Given the description of an element on the screen output the (x, y) to click on. 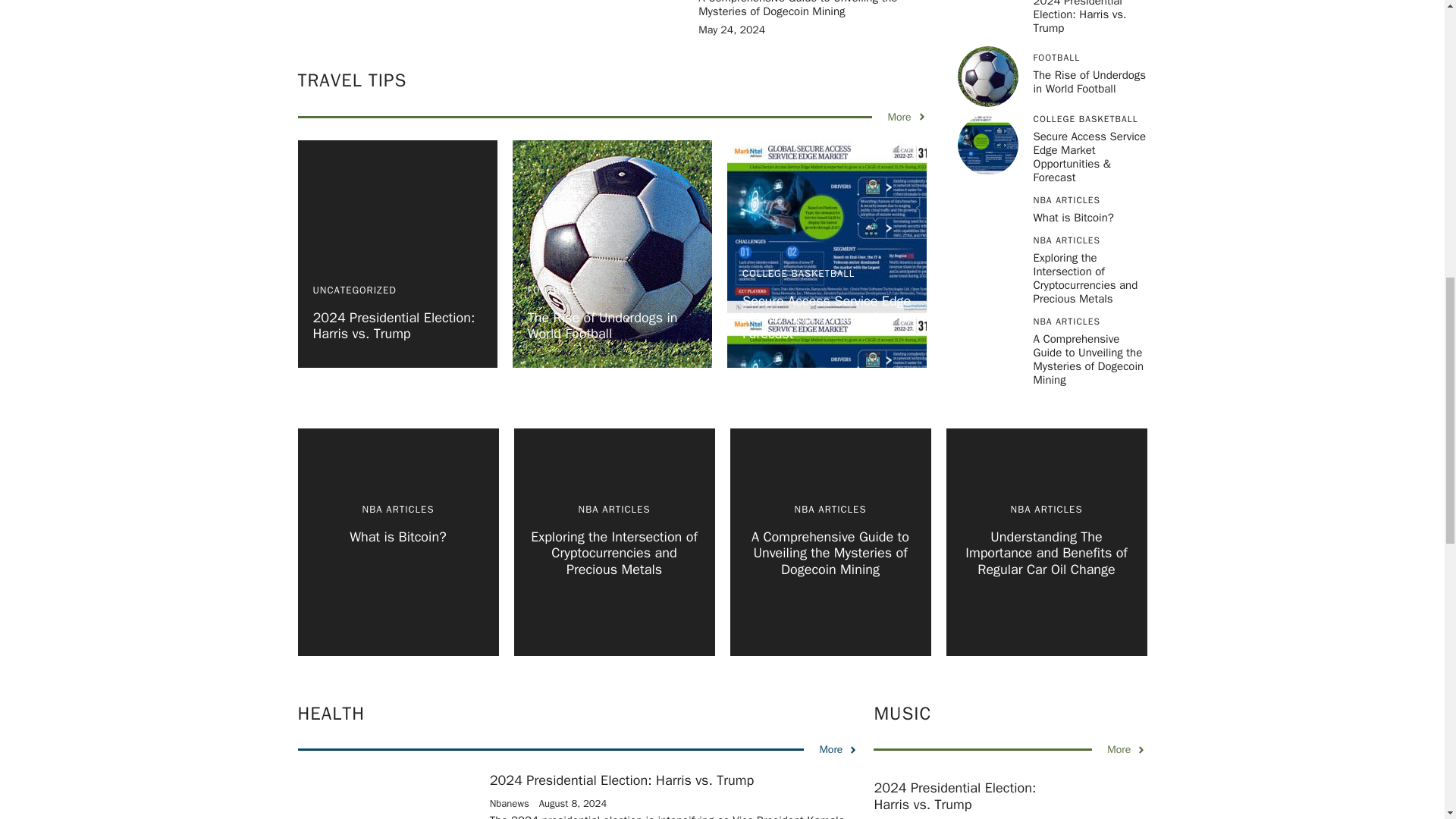
FOOTBALL (552, 289)
2024 Presidential Election: Harris vs. Trump (393, 326)
More (906, 116)
UNCATEGORIZED (354, 289)
The Rise of Underdogs in World Football (602, 326)
